Given the description of an element on the screen output the (x, y) to click on. 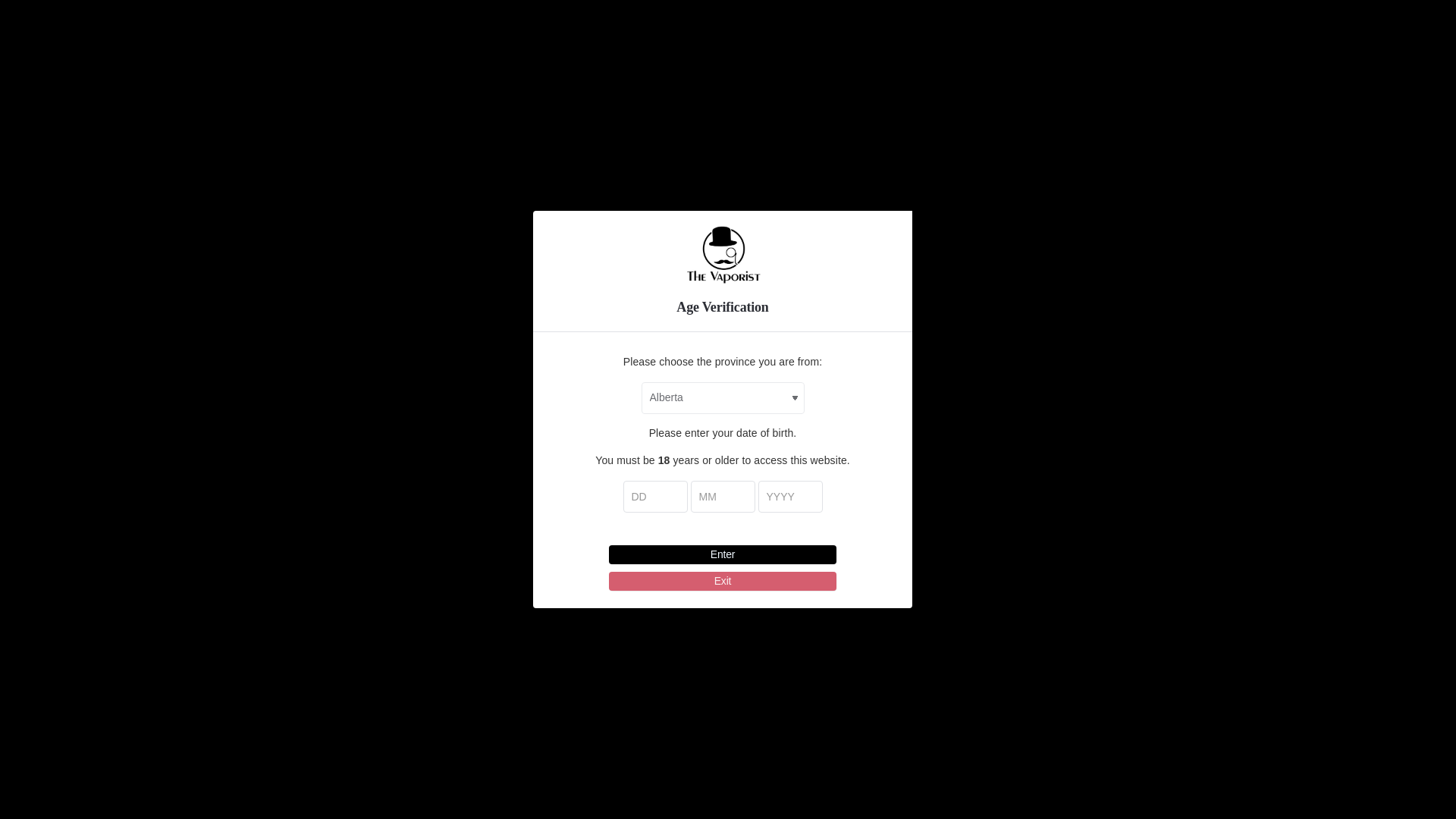
SIGNATURE LINE CLEARANCE (382, 193)
Login (998, 102)
PREMIUM CUSTOMS (725, 193)
SIGNATURE LINE (515, 193)
Enter (721, 554)
Order Processing Delay: 0-24hrs (721, 13)
Register (1074, 102)
SALT NICOTINE (832, 193)
BDY E-LIQUIDS (1018, 193)
THE VAPORIST (925, 193)
